Given the description of an element on the screen output the (x, y) to click on. 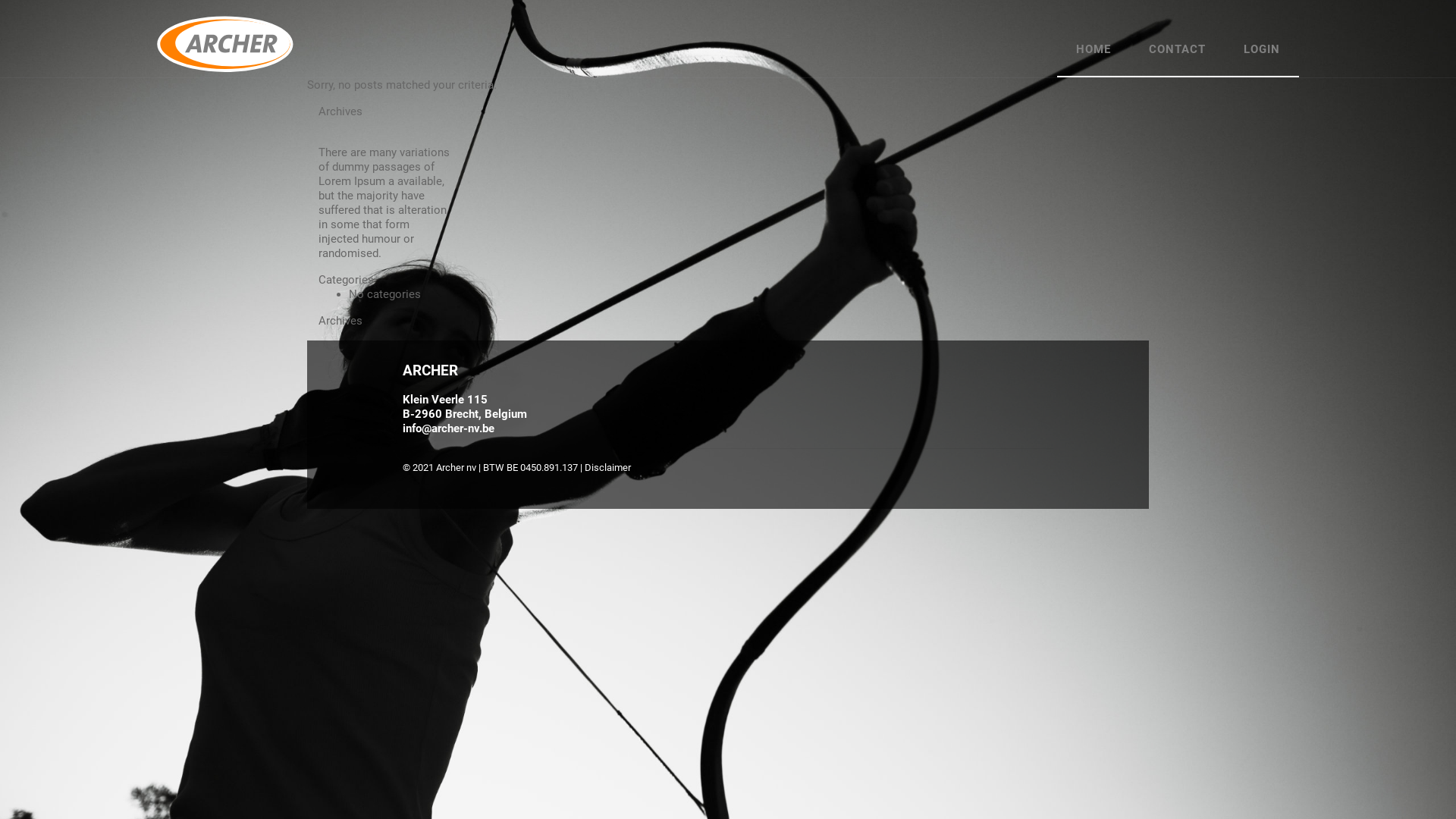
info@archer-nv.be Element type: text (448, 428)
Disclaimer Element type: text (607, 467)
HOME Element type: text (1093, 50)
CONTACT Element type: text (1176, 50)
LOGIN Element type: text (1261, 50)
Archer NV Element type: hover (224, 44)
